Given the description of an element on the screen output the (x, y) to click on. 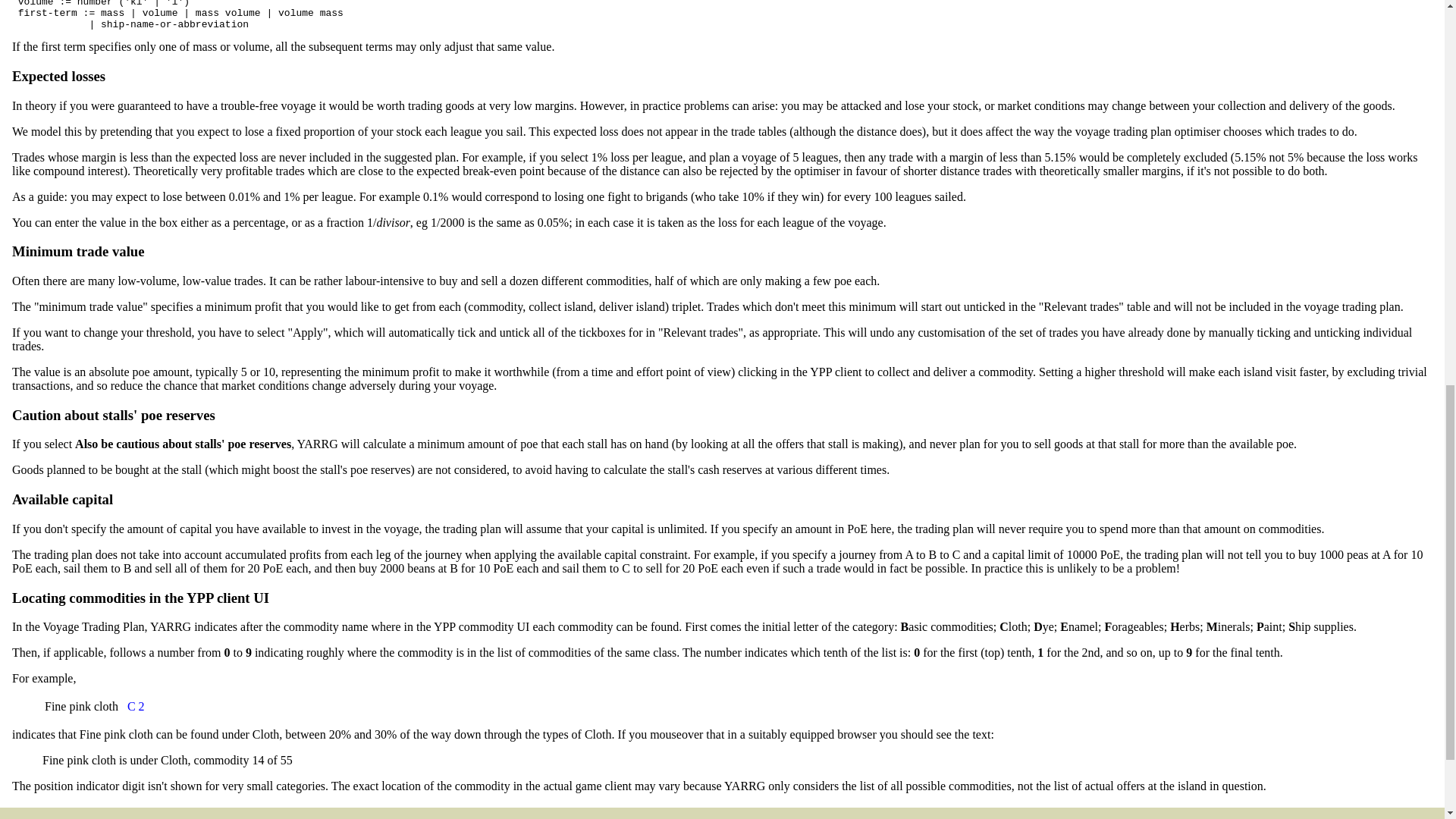
Expected losses (57, 75)
Available capital (62, 498)
Caution about stalls' poe reserves (113, 415)
Minimum trade value (77, 251)
Locating commodities in the YPP client UI (140, 597)
Fine pink cloth is under Cloth, commodity 14 of 55 (136, 706)
